Given the description of an element on the screen output the (x, y) to click on. 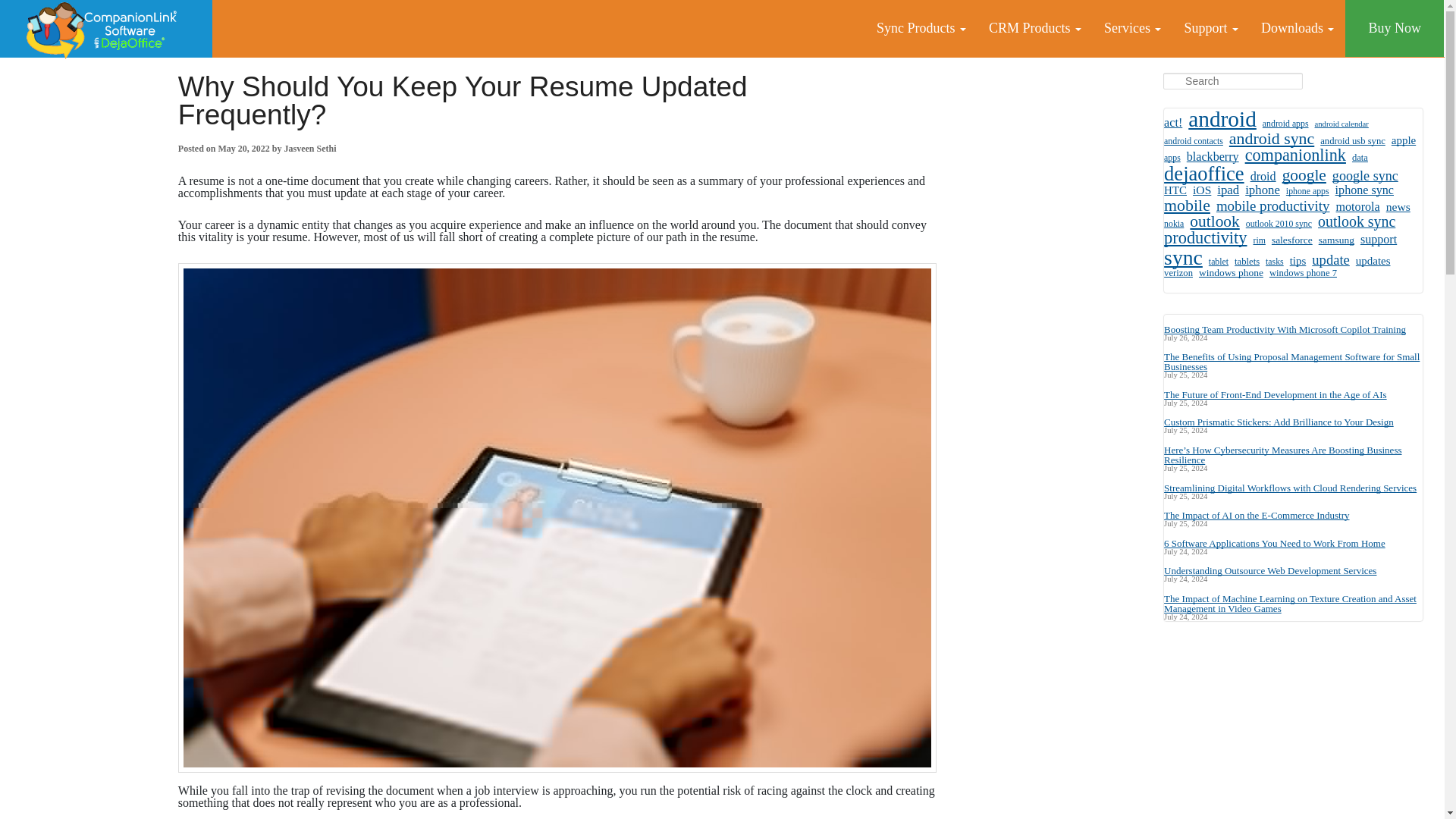
CompanionLink Home (106, 28)
CRM Products (1034, 28)
Sync Products (920, 28)
Downloads (1297, 28)
Support (1210, 28)
Services (1132, 28)
